Given the description of an element on the screen output the (x, y) to click on. 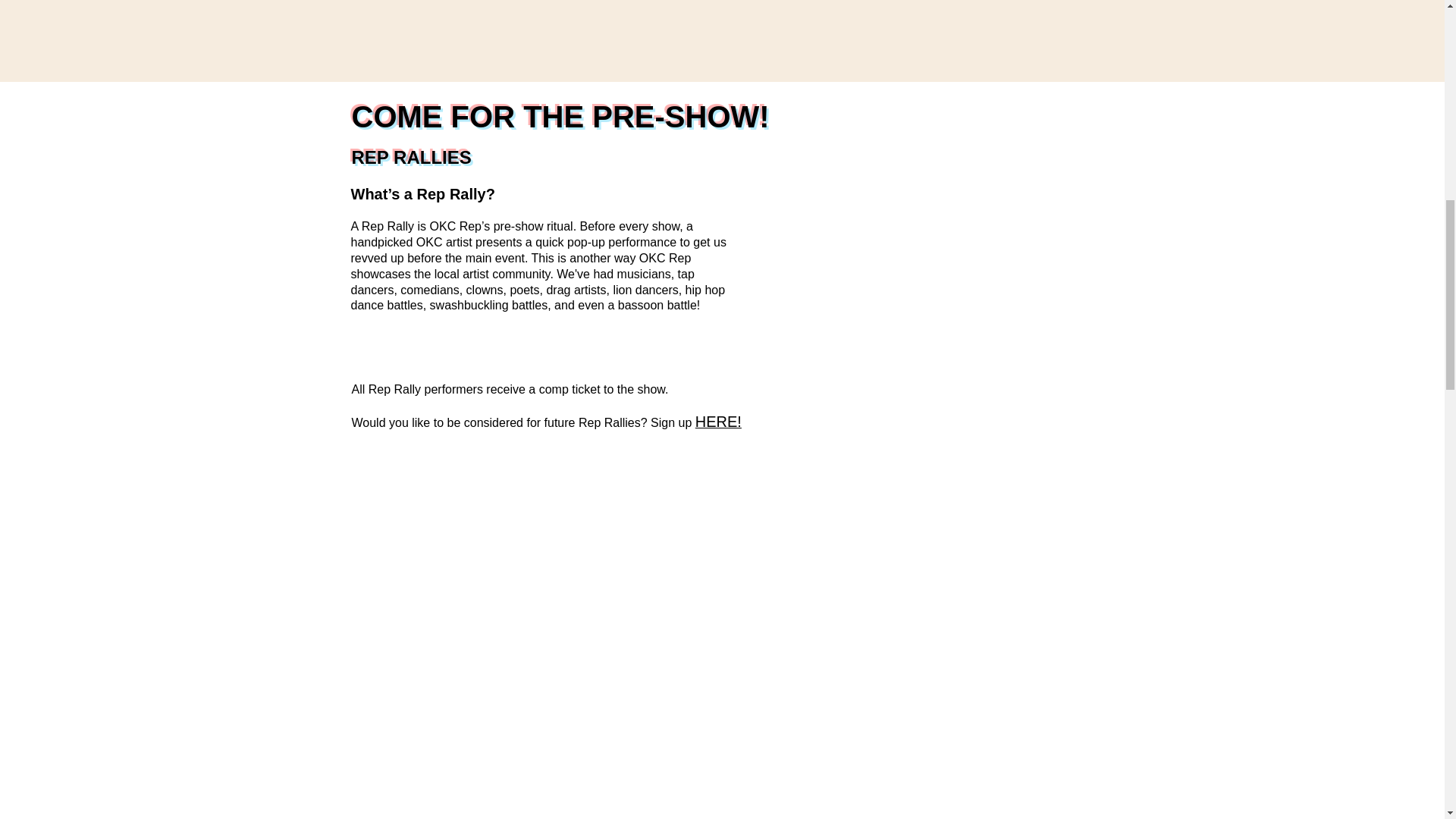
HERE! (718, 422)
